Given the description of an element on the screen output the (x, y) to click on. 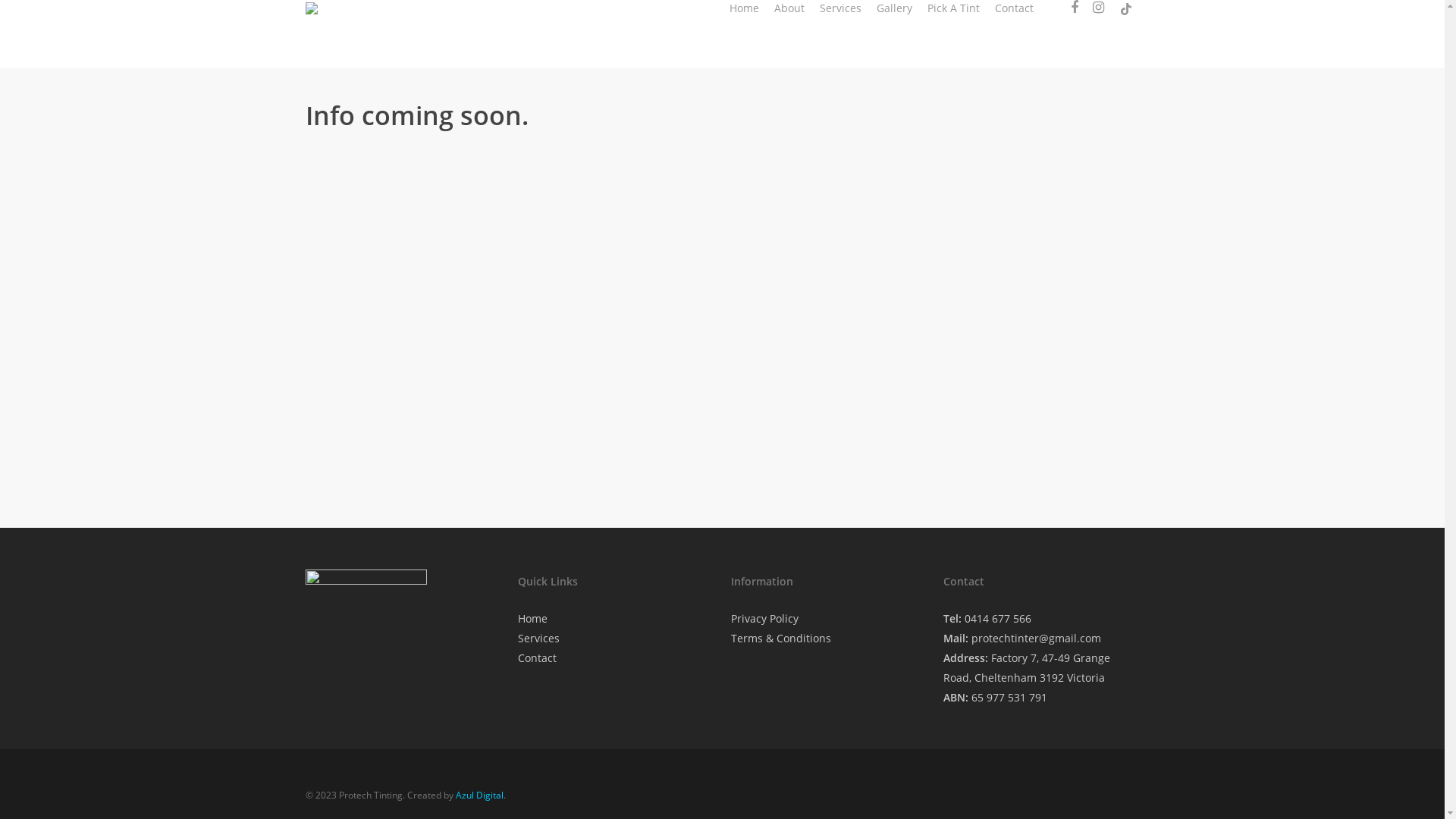
Home Element type: text (744, 7)
tiktok Element type: text (1125, 8)
instagram Element type: text (1097, 8)
facebook Element type: text (1073, 8)
Services Element type: text (538, 637)
Contact Element type: text (1013, 7)
Pick A Tint Element type: text (952, 7)
Home Element type: text (532, 621)
Azul Digital Element type: text (478, 794)
Terms & Conditions Element type: text (781, 637)
About Element type: text (788, 7)
0414 677 566 Element type: text (997, 618)
Contact Element type: text (536, 657)
Services Element type: text (839, 7)
Privacy Policy Element type: text (764, 621)
Gallery Element type: text (894, 7)
